Given the description of an element on the screen output the (x, y) to click on. 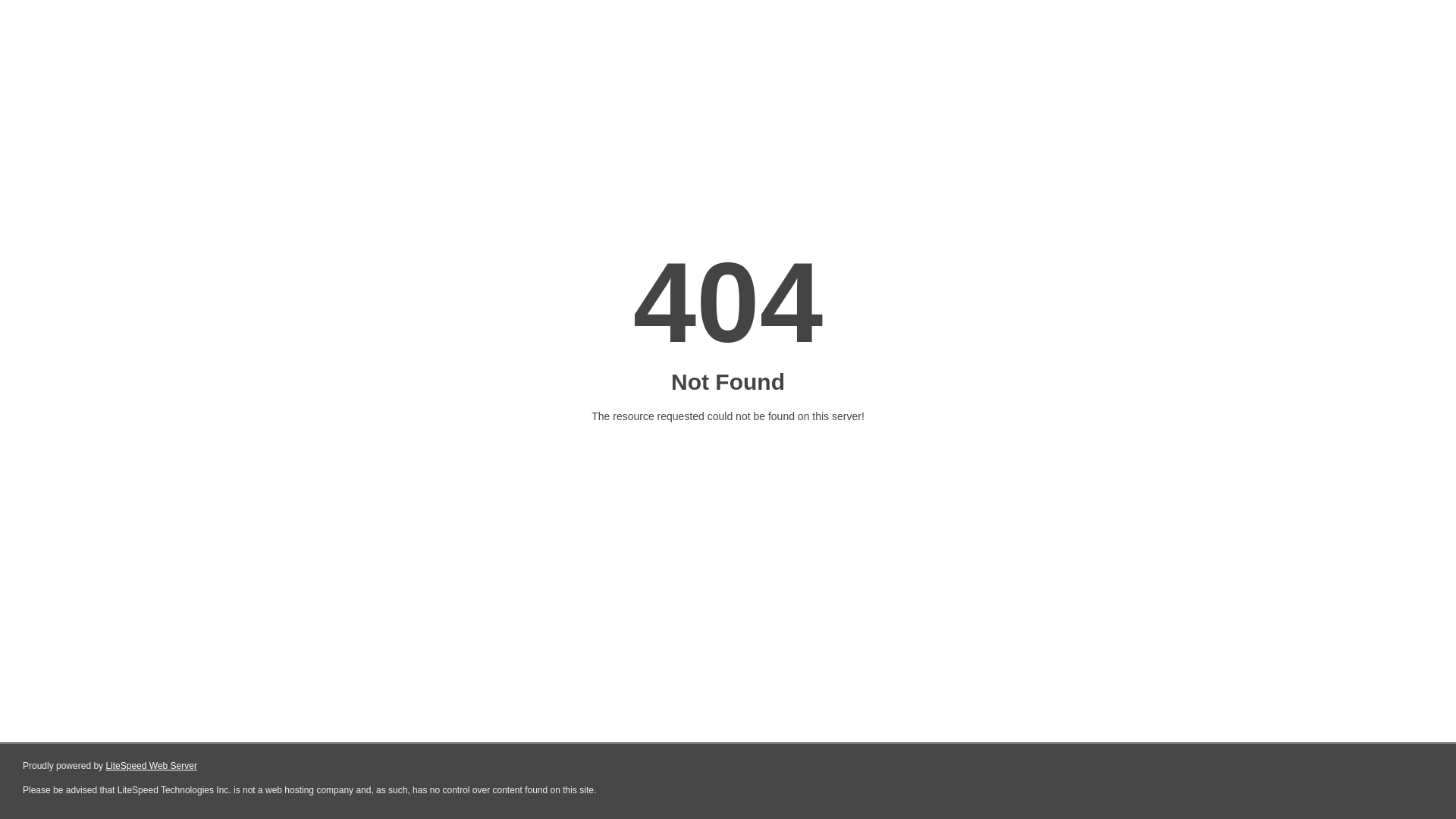
LiteSpeed Web Server Element type: text (151, 765)
